Given the description of an element on the screen output the (x, y) to click on. 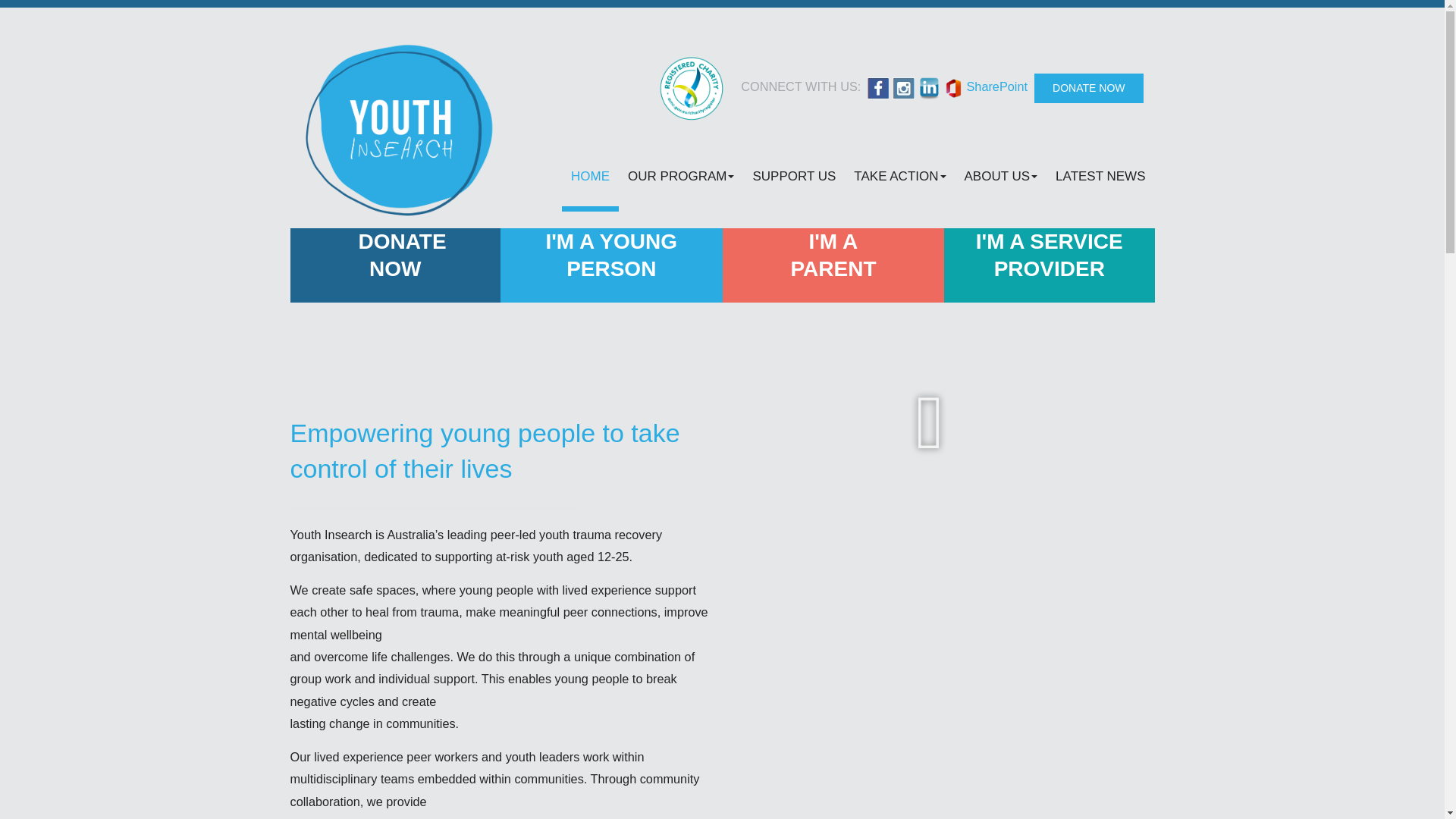
I'M A SERVICE PROVIDER Element type: text (1049, 255)
SharePoint Element type: text (996, 86)
DONATE NOW Element type: text (1088, 87)
DONATE NOW Element type: text (394, 255)
I'M A PARENT Element type: text (832, 255)
I'M A YOUNG PERSON Element type: text (611, 255)
Skip to main content Element type: text (56, 0)
HOME Element type: text (589, 173)
LATEST NEWS Element type: text (1100, 173)
SUPPORT US Element type: text (793, 173)
